Given the description of an element on the screen output the (x, y) to click on. 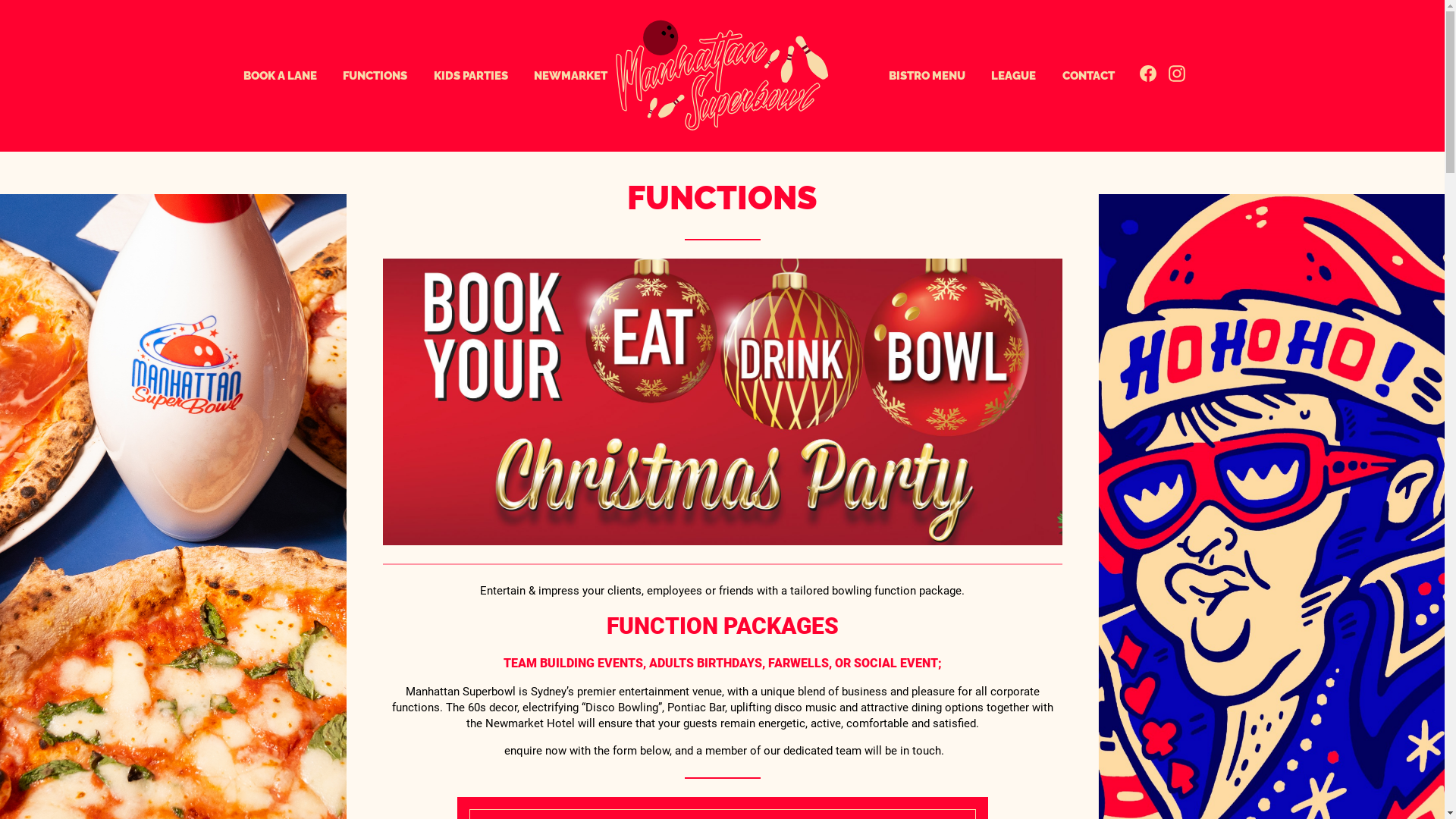
CONTACT Element type: text (1088, 75)
BOOK A LANE Element type: text (279, 75)
BISTRO MENU Element type: text (927, 75)
KIDS PARTIES Element type: text (470, 75)
LEAGUE Element type: text (1013, 75)
LOGO Element type: text (748, 75)
FUNCTIONS Element type: text (374, 75)
NEWMARKET Element type: text (570, 75)
Manhattan Superbowl Element type: text (722, 76)
